Given the description of an element on the screen output the (x, y) to click on. 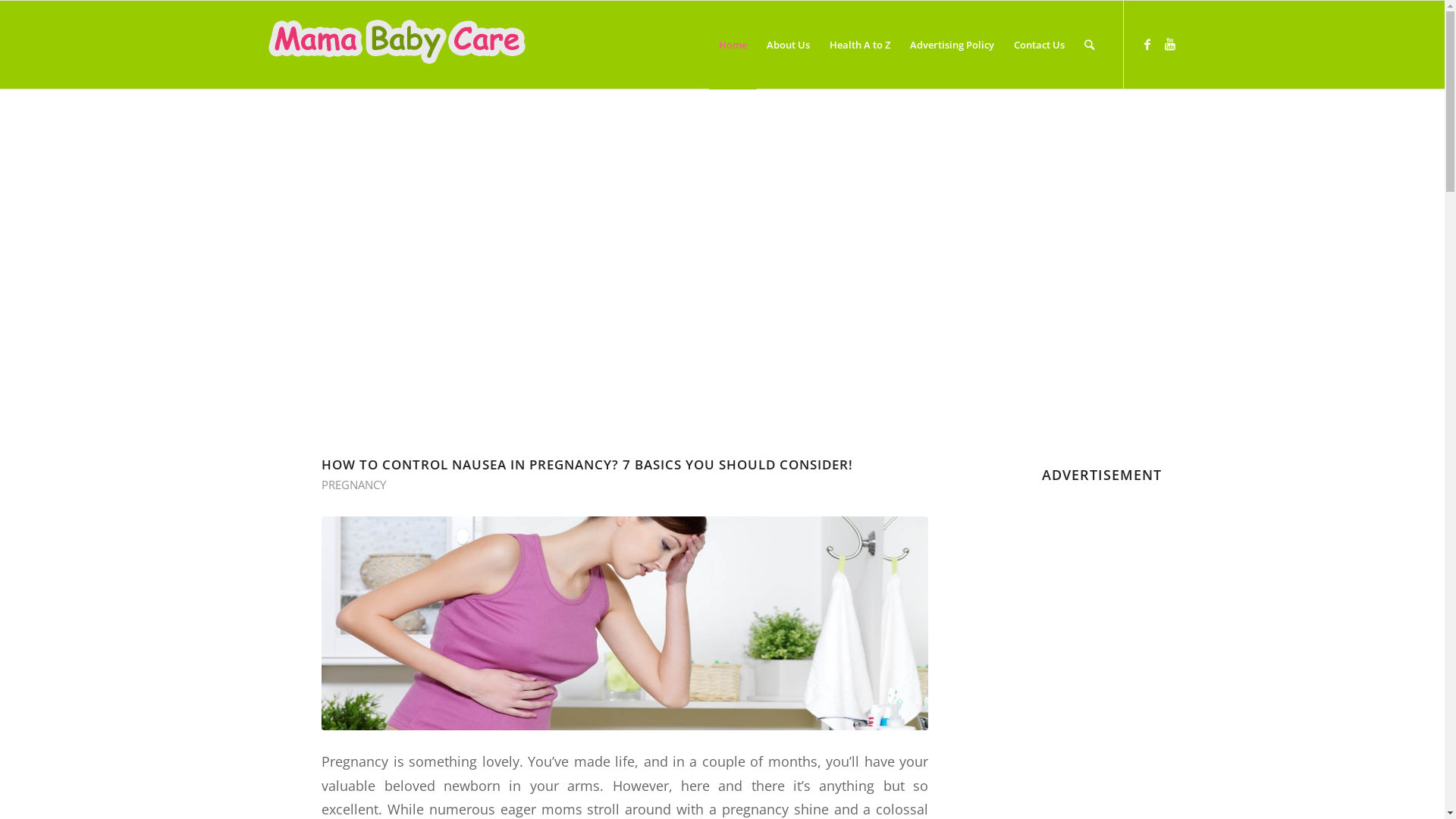
Youtube Element type: hover (1169, 43)
Contact Us Element type: text (1039, 44)
About Us Element type: text (787, 44)
Home Element type: text (732, 44)
How to control Nausea in Pregnancy Element type: hover (624, 623)
Facebook Element type: hover (1146, 43)
Advertising Policy Element type: text (951, 44)
PREGNANCY Element type: text (353, 484)
Health A to Z Element type: text (859, 44)
Advertisement Element type: hover (718, 281)
